Given the description of an element on the screen output the (x, y) to click on. 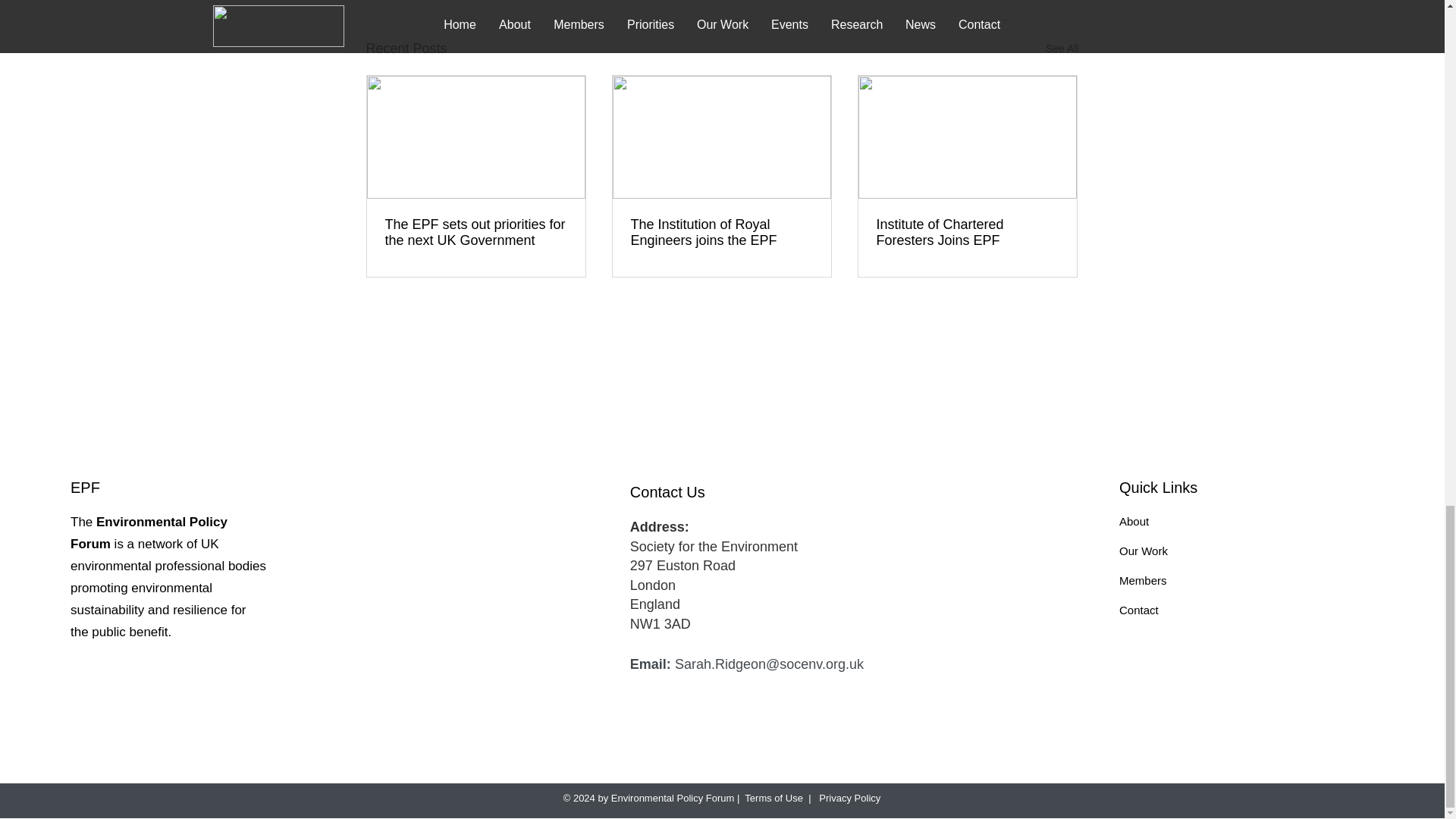
Our Work (1143, 550)
Contact (1138, 609)
The EPF sets out priorities for the next UK Government (476, 232)
See All (1061, 48)
Institute of Chartered Foresters Joins EPF (967, 232)
 Privacy Policy (848, 797)
Members (1143, 580)
About (1133, 521)
Terms of Use (773, 797)
The Institution of Royal Engineers joins the EPF (721, 232)
